Given the description of an element on the screen output the (x, y) to click on. 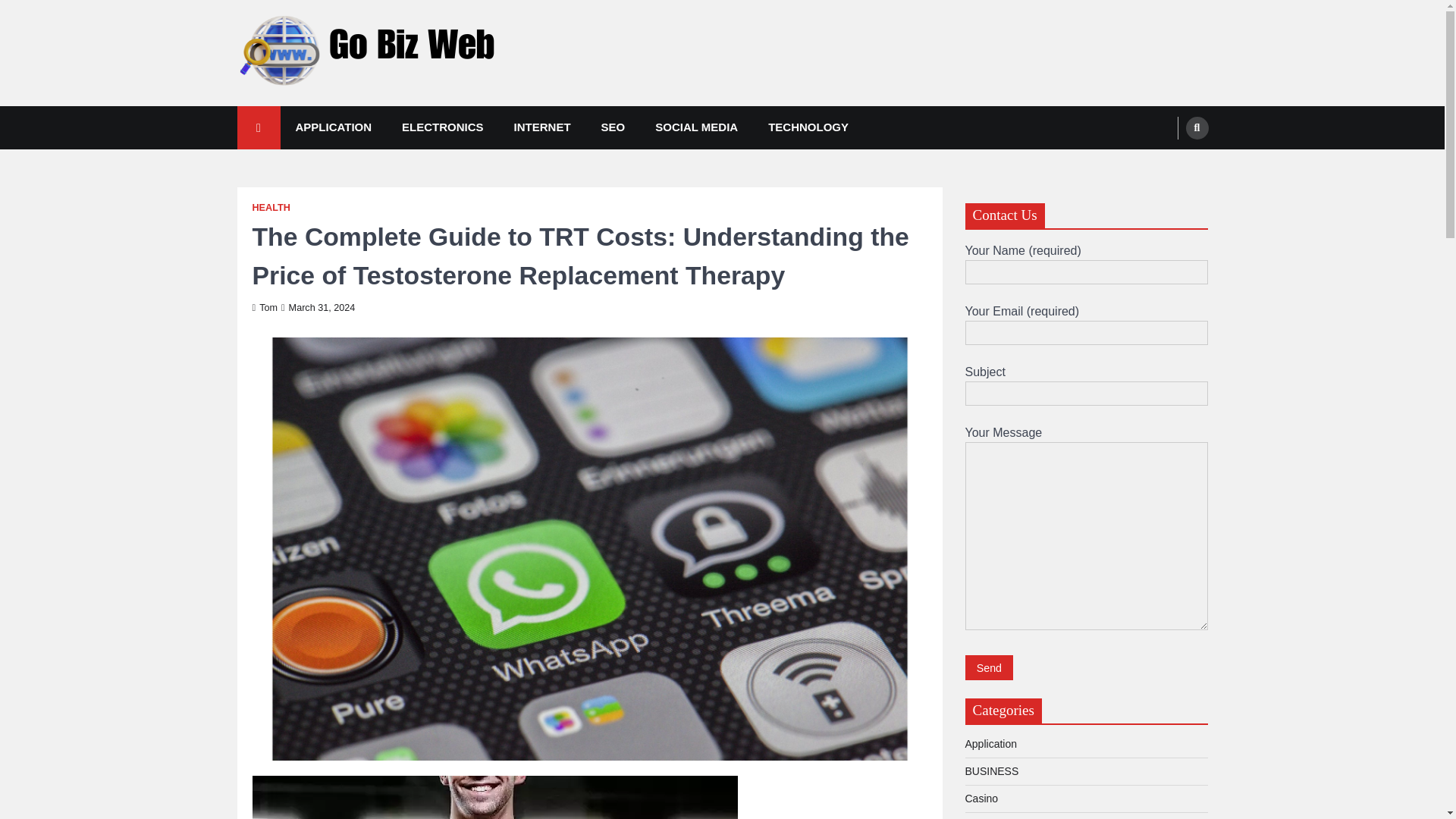
ELECTRONICS (443, 127)
Tom (263, 307)
APPLICATION (334, 127)
Search (1168, 163)
SEO (613, 127)
Search (1197, 128)
Send (988, 667)
HEALTH (270, 207)
Go Biz Web (300, 110)
INTERNET (542, 127)
March 31, 2024 (318, 307)
Send (988, 667)
Casino (980, 798)
TECHNOLOGY (807, 127)
SOCIAL MEDIA (696, 127)
